Given the description of an element on the screen output the (x, y) to click on. 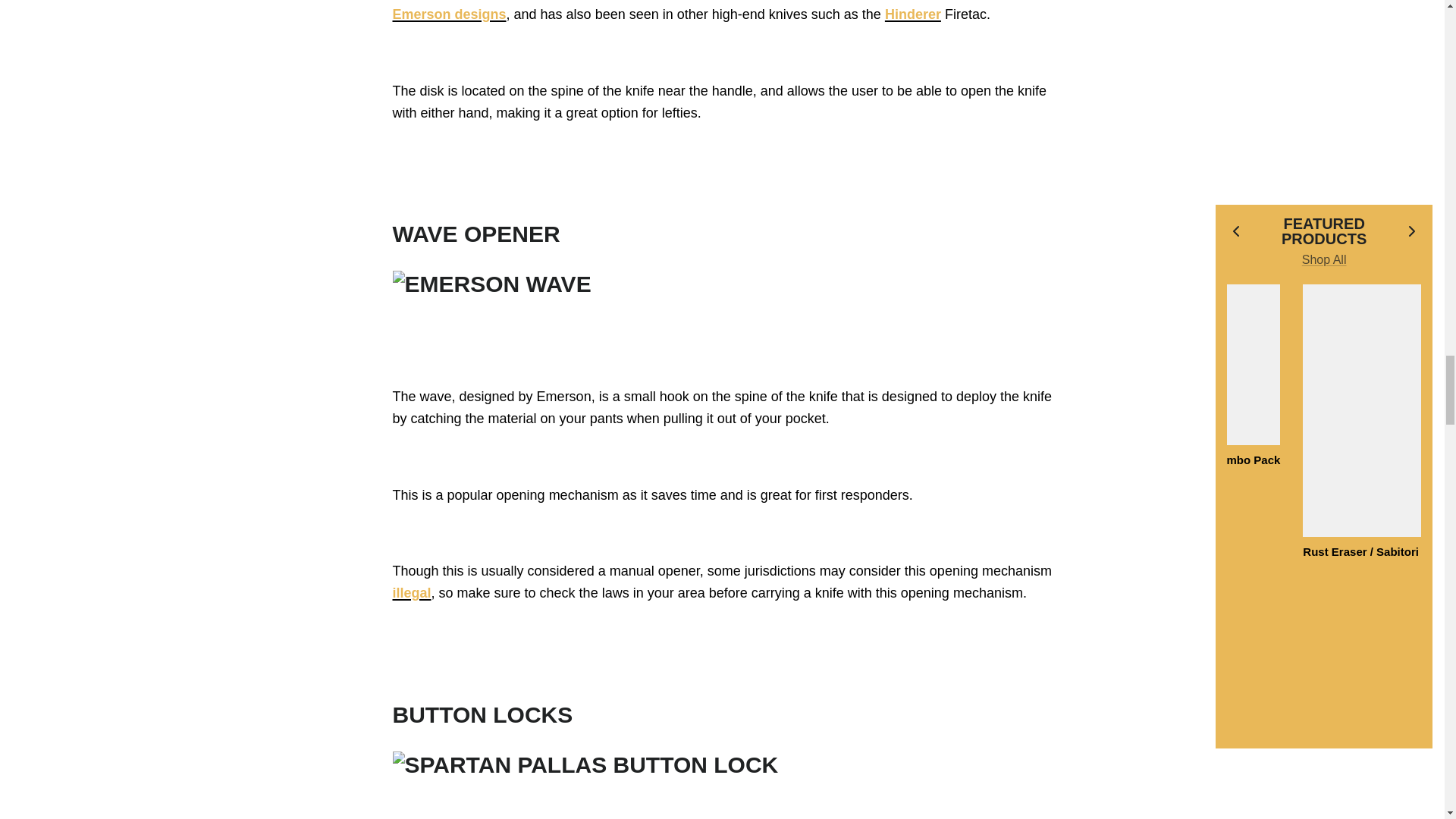
Emerson Knives (449, 14)
Hinderer Knives (912, 14)
Article about knife laws in the USA (411, 592)
